Given the description of an element on the screen output the (x, y) to click on. 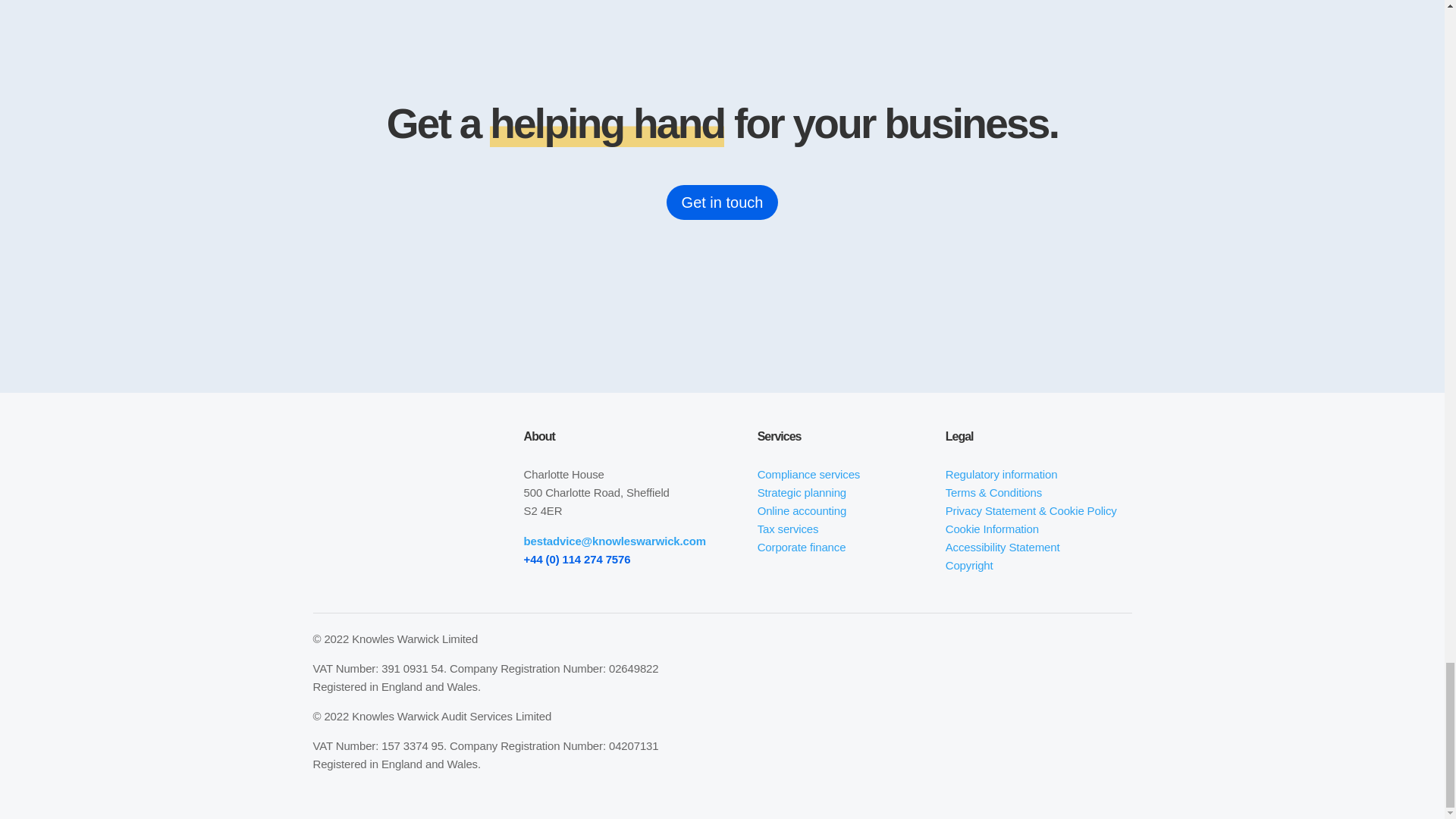
Email Knowles Warwick (615, 540)
